Given the description of an element on the screen output the (x, y) to click on. 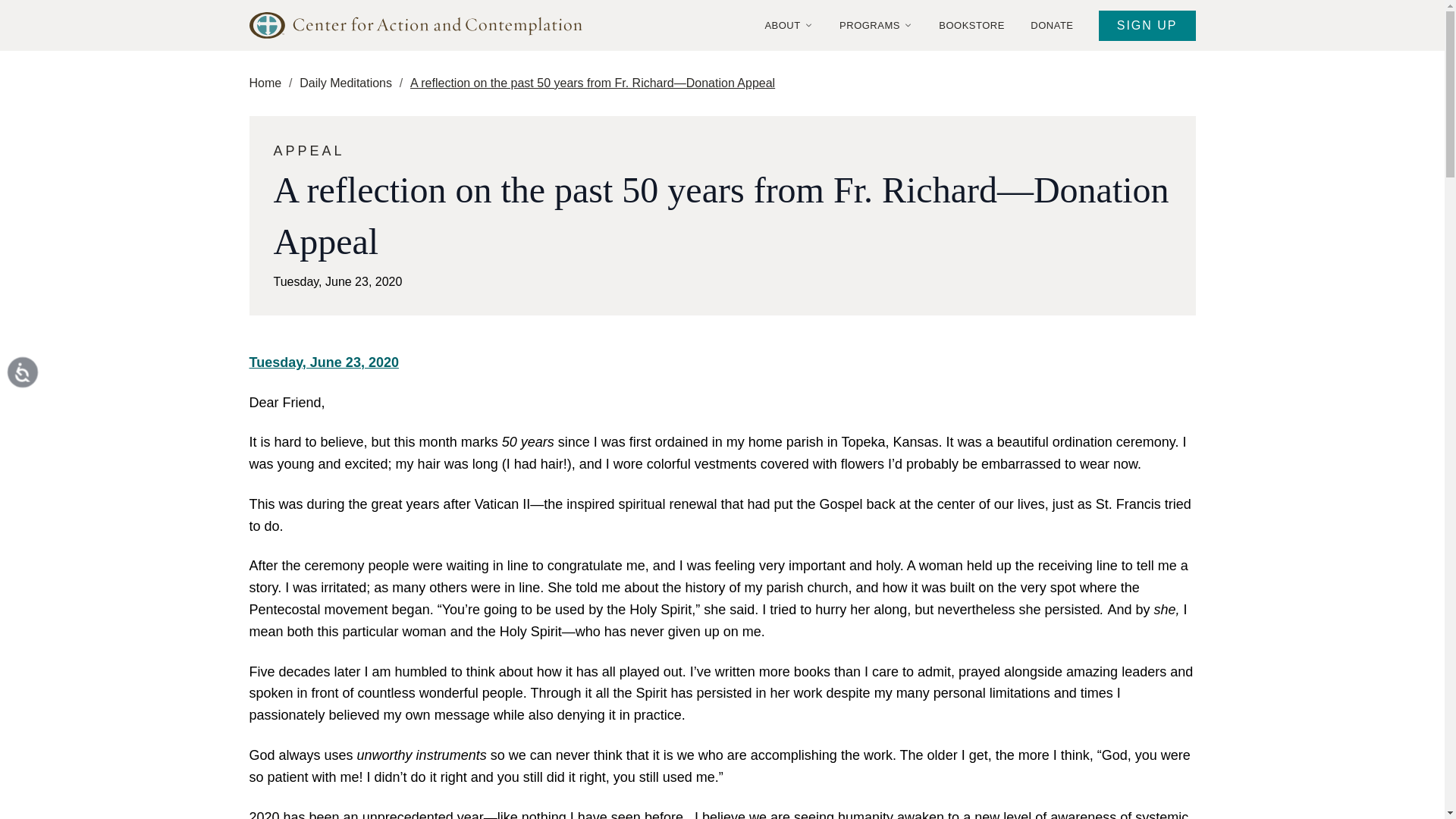
DONATE (1051, 25)
Center for Action and Contemplation (421, 25)
ABOUT (788, 25)
SIGN UP (1147, 25)
BOOKSTORE (971, 25)
ACCESSIBILITY (39, 388)
Home (264, 83)
PROGRAMS (875, 25)
